Given the description of an element on the screen output the (x, y) to click on. 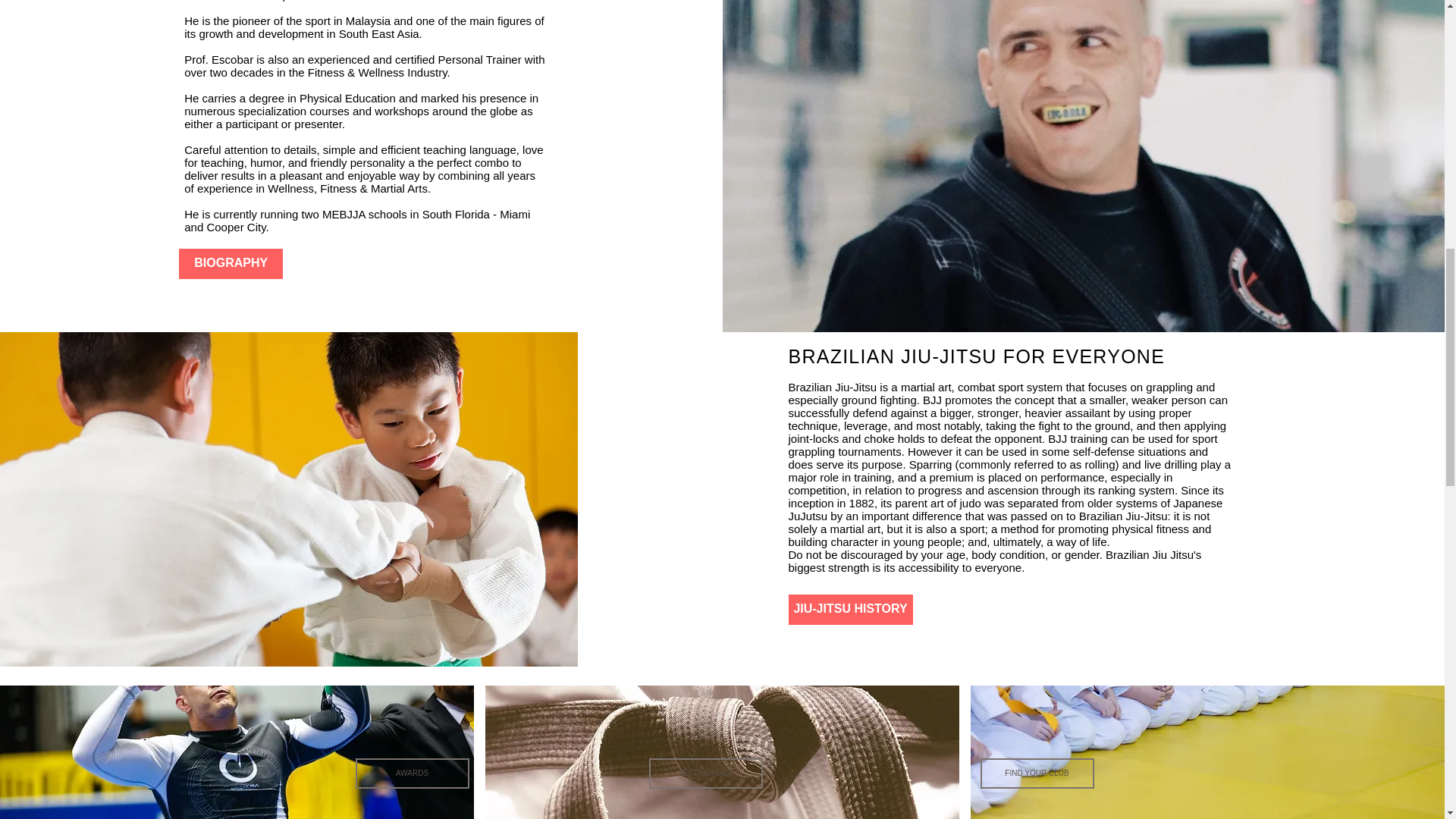
AWARDS (411, 773)
TESTIMONIALS (705, 773)
JIU-JITSU HISTORY (850, 609)
FIND YOUR CLUB (1036, 773)
BIOGRAPHY (230, 263)
